Given the description of an element on the screen output the (x, y) to click on. 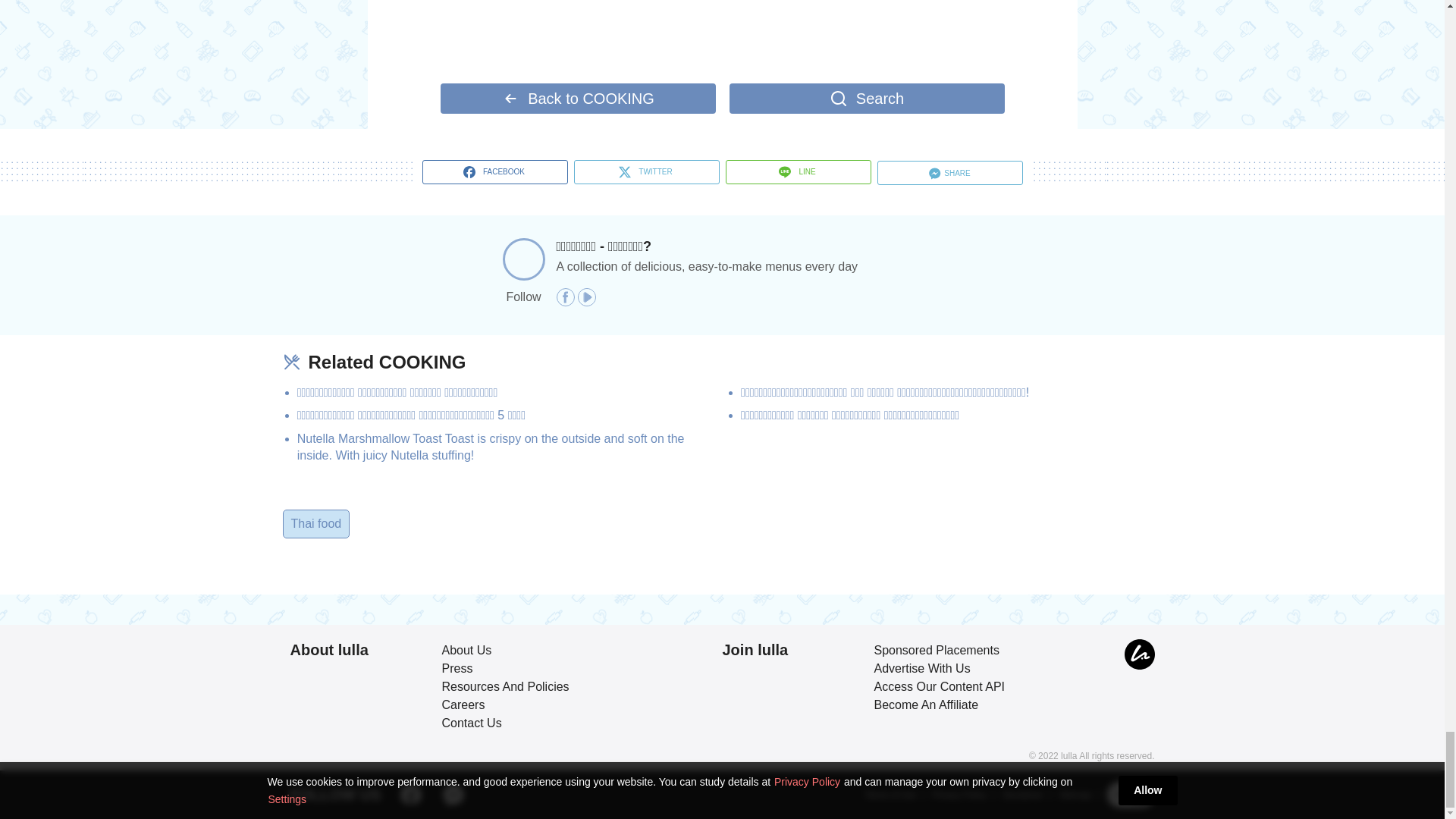
About Us (466, 649)
Press (456, 667)
Back to COOKING (576, 98)
LULLA (1139, 654)
Careers (462, 704)
TWITTER (646, 171)
SHARE (949, 173)
FACEBOOK (494, 171)
Sponsored Placements (935, 649)
Thai food (316, 522)
